Given the description of an element on the screen output the (x, y) to click on. 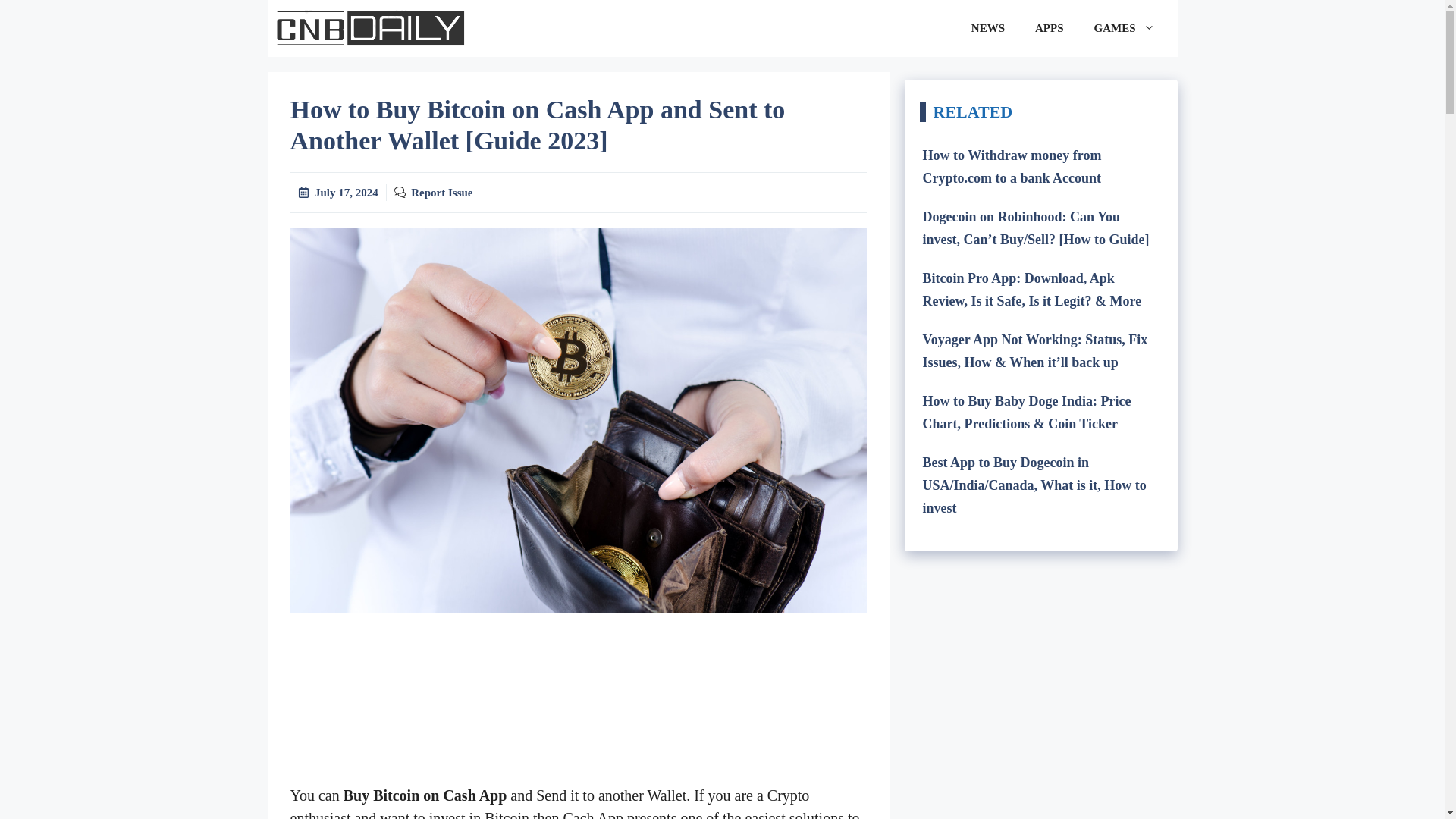
Advertisement (577, 705)
NEWS (988, 28)
Report Issue (440, 192)
APPS (1049, 28)
GAMES (1123, 28)
